Given the description of an element on the screen output the (x, y) to click on. 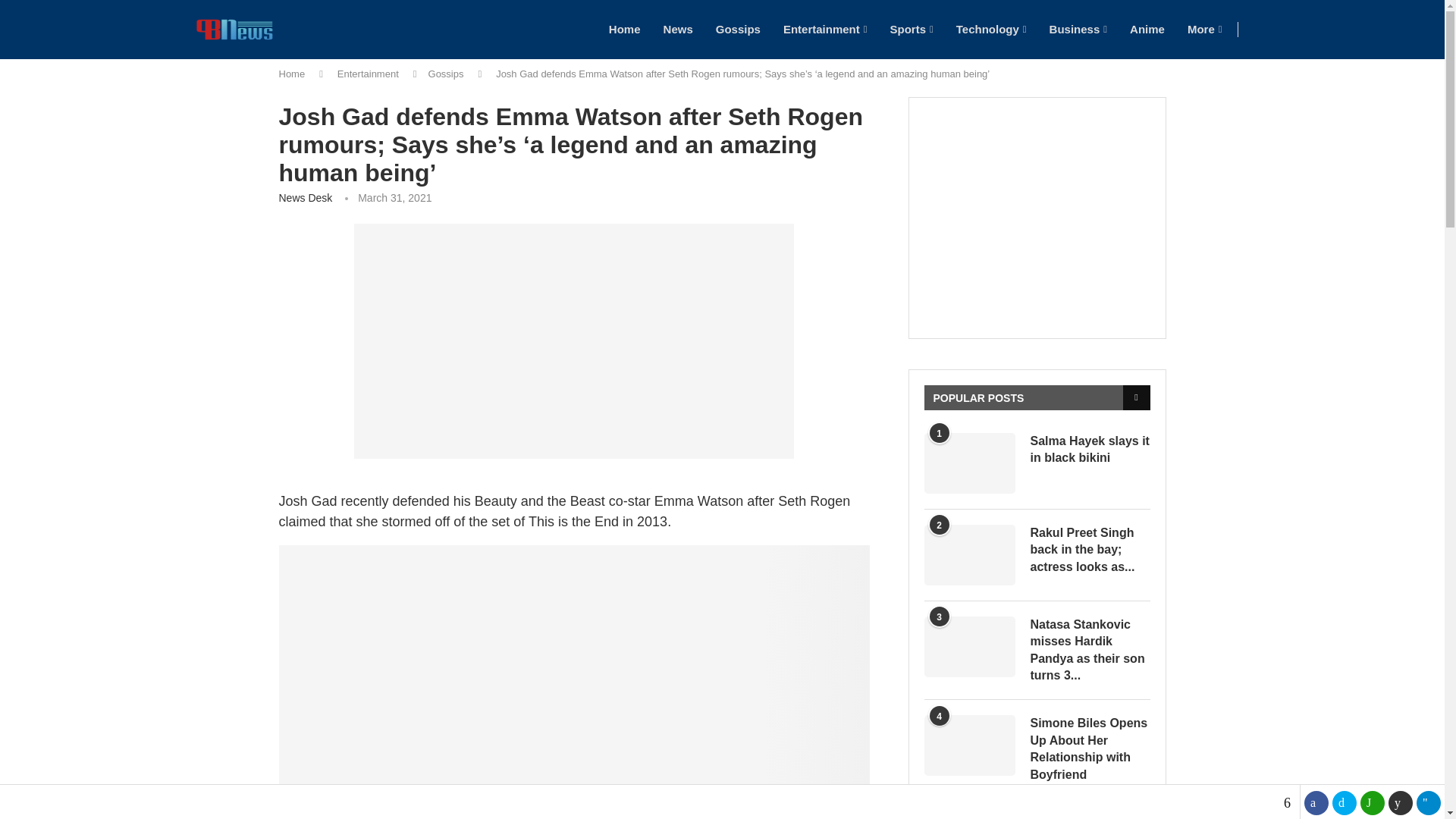
Gossips (738, 29)
Josh Gad defends Emma Watson after Seth Rogen rumours; Says (573, 340)
Sports (911, 29)
Salma Hayek slays it in black bikini (968, 463)
Entertainment (825, 29)
Salma Hayek slays it in black bikini (1089, 449)
